Given the description of an element on the screen output the (x, y) to click on. 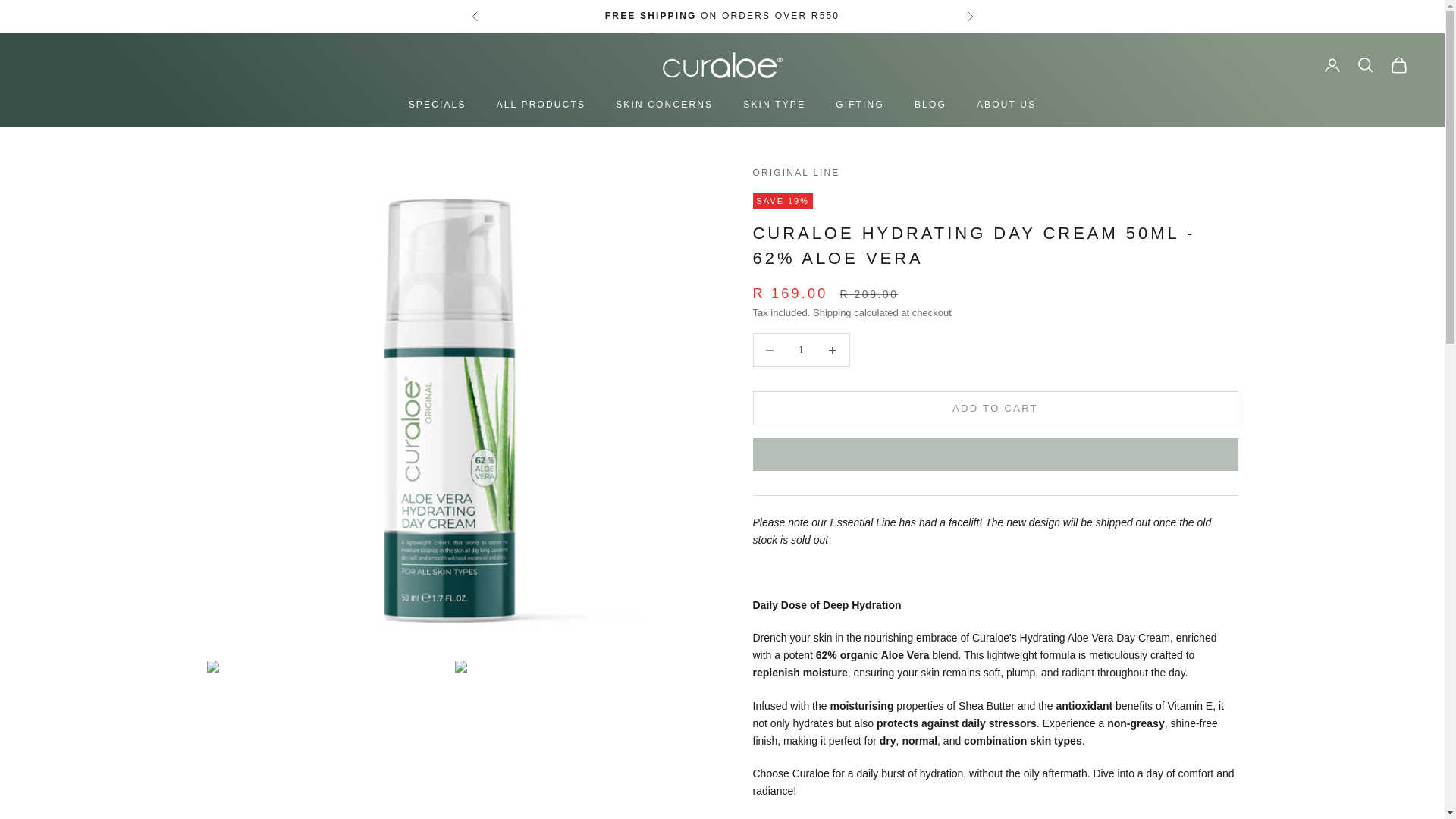
Curaloe - South Africa (722, 64)
SPECIALS (437, 104)
1 (801, 349)
